Given the description of an element on the screen output the (x, y) to click on. 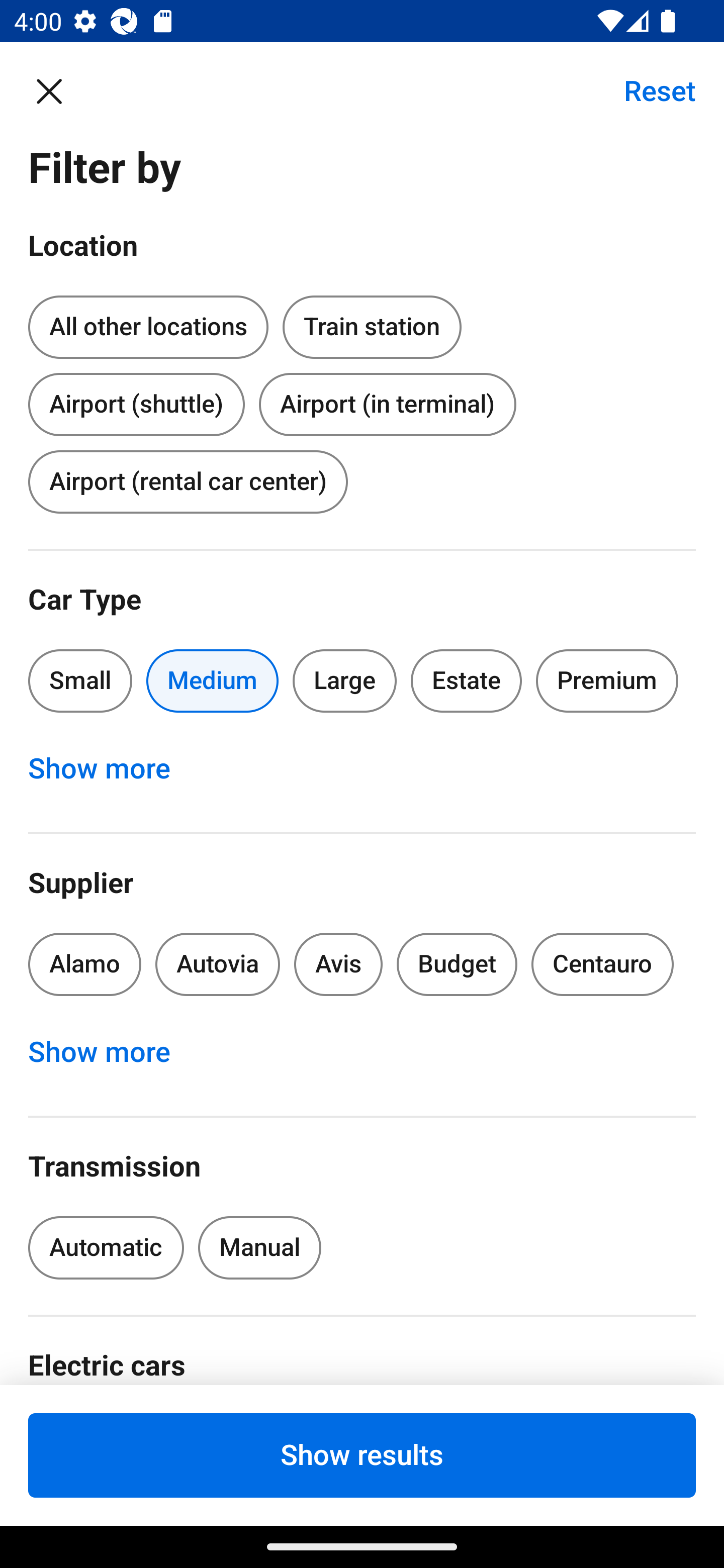
Close (59, 90)
Reset (649, 90)
All other locations (148, 327)
Train station (371, 323)
Airport (shuttle) (136, 400)
Airport (in terminal) (387, 404)
Airport (rental car center) (187, 481)
Small (80, 680)
Large (344, 680)
Estate (466, 680)
Premium (606, 680)
Show more (109, 767)
Alamo (84, 963)
Autovia (217, 963)
Avis (338, 963)
Budget (456, 963)
Centauro (602, 963)
Show more (109, 1051)
Automatic (105, 1247)
Manual (259, 1247)
Show results (361, 1454)
